Given the description of an element on the screen output the (x, y) to click on. 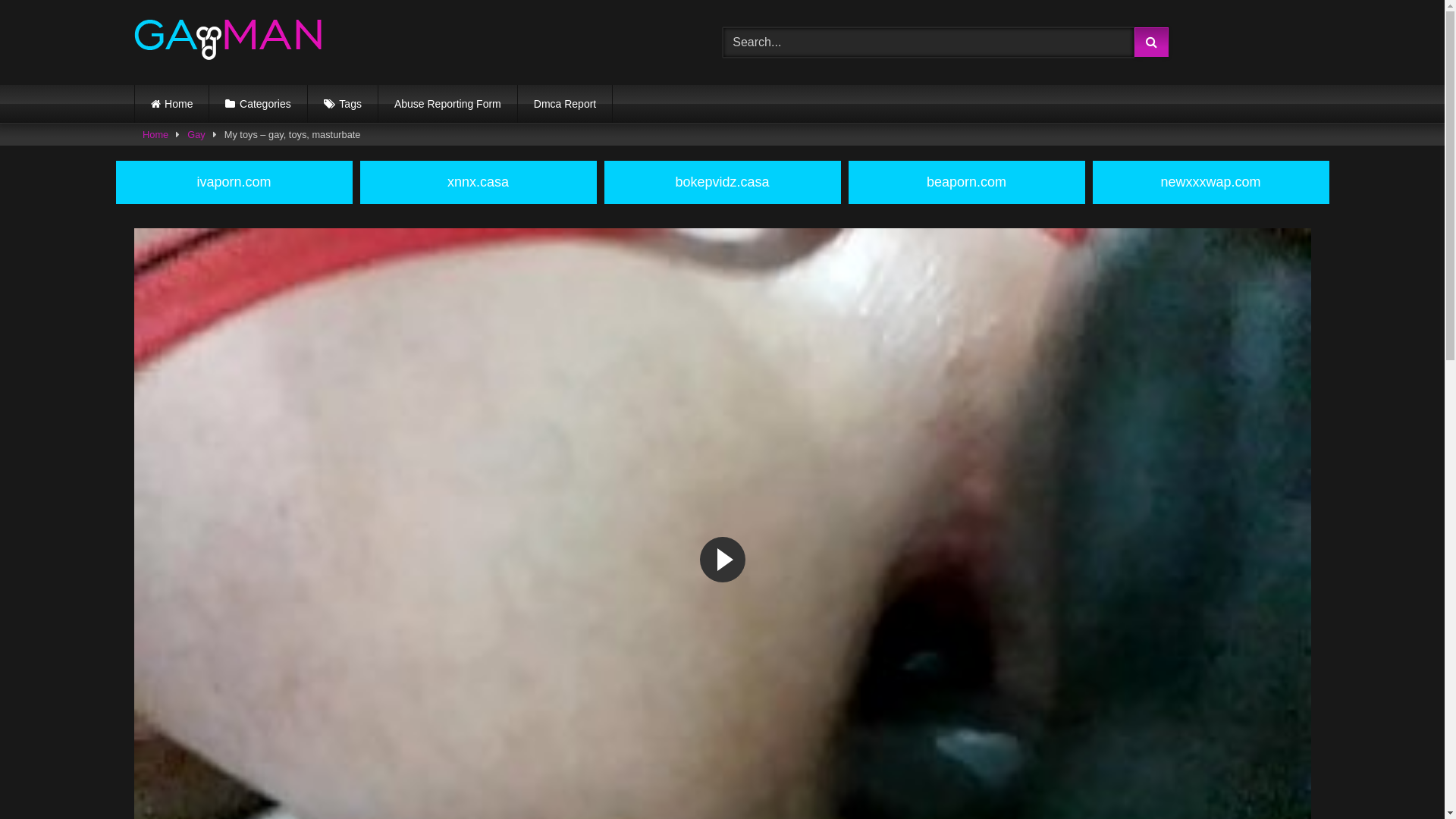
Skip to content Element type: text (0, 0)
beaporn.com Element type: text (965, 181)
Home Element type: text (171, 103)
Dmca Report Element type: text (564, 103)
bokepvidz.casa Element type: text (721, 181)
Abuse Reporting Form Element type: text (447, 103)
Categories Element type: text (257, 103)
Tags Element type: text (342, 103)
Free gayman porn videos and HD XXX Gay Porn Element type: hover (226, 42)
Gay Element type: text (195, 134)
Home Element type: text (155, 134)
xnnx.casa Element type: text (477, 181)
ivaporn.com Element type: text (233, 181)
newxxxwap.com Element type: text (1210, 181)
